Given the description of an element on the screen output the (x, y) to click on. 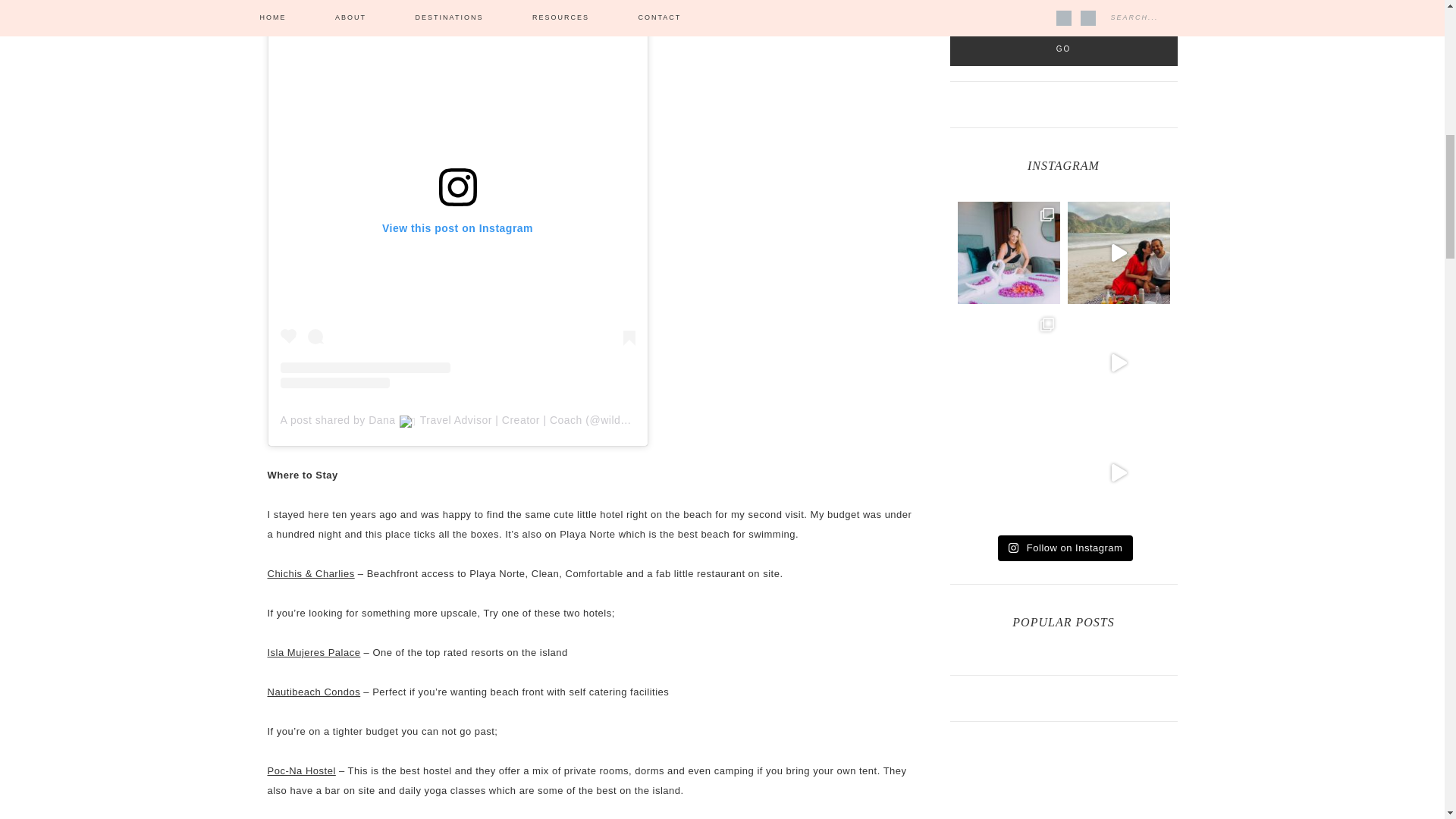
Go (1062, 48)
Nautibeach Condos (312, 691)
Isla Mujeres Palace (312, 652)
